Given the description of an element on the screen output the (x, y) to click on. 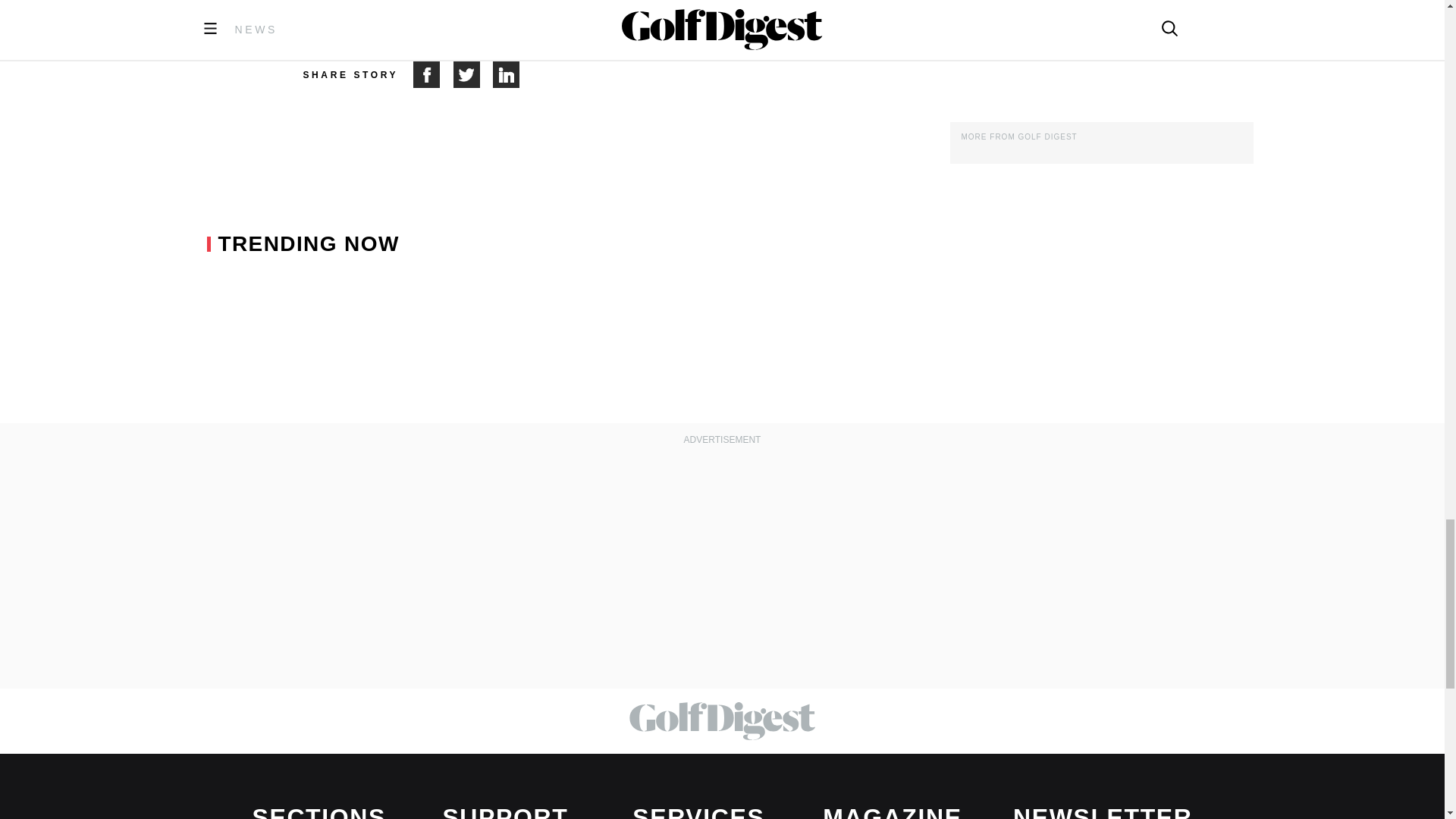
Share on Twitter (472, 74)
Share on LinkedIn (506, 74)
Share on Facebook (432, 74)
